Given the description of an element on the screen output the (x, y) to click on. 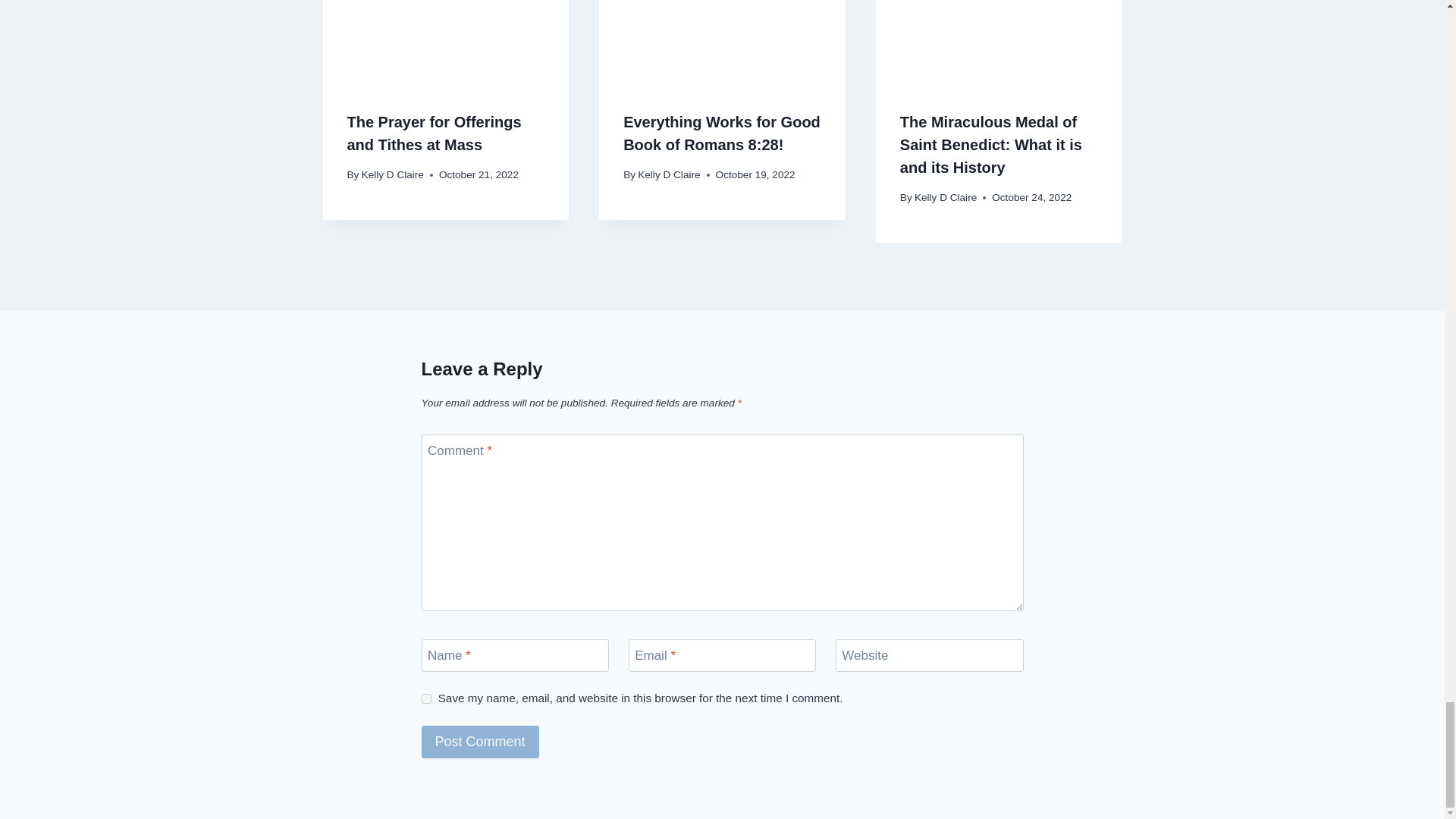
Kelly D Claire (668, 174)
Kelly D Claire (392, 174)
yes (426, 698)
Post Comment (480, 741)
The Prayer for Offerings and Tithes at Mass (434, 133)
Everything Works for Good Book of Romans 8:28! (722, 133)
